Given the description of an element on the screen output the (x, y) to click on. 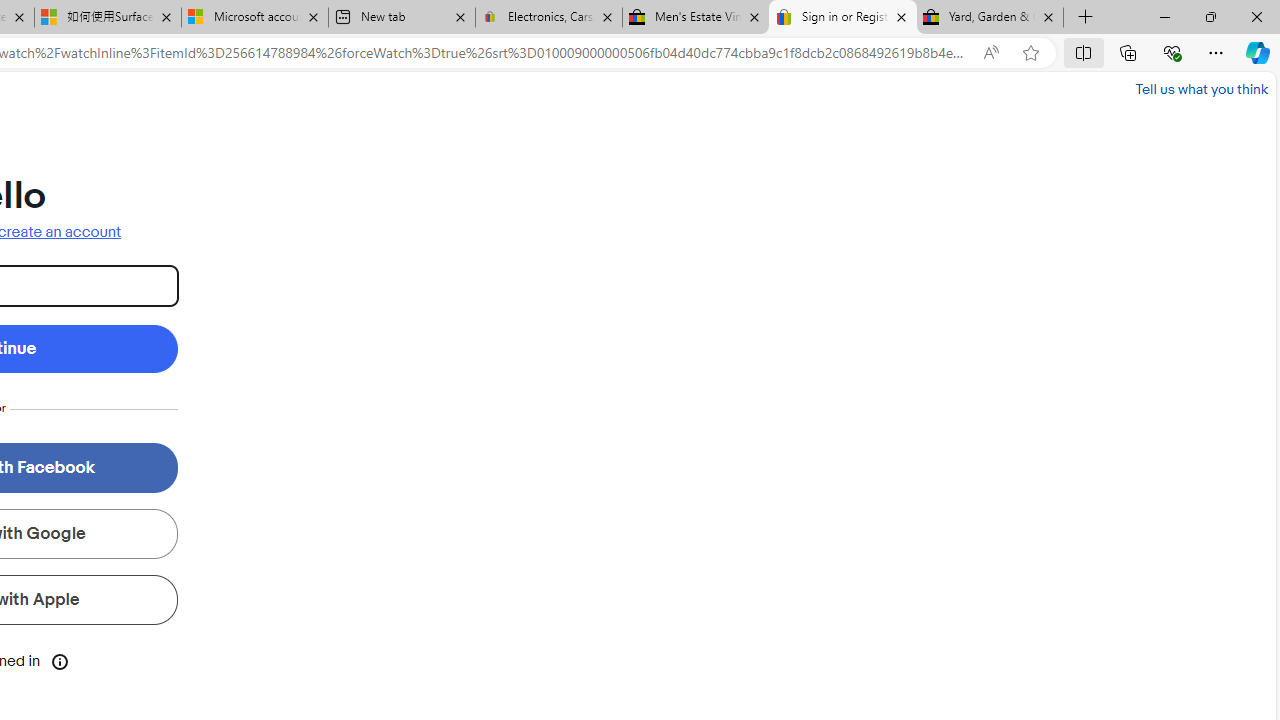
Sign in or Register | eBay (843, 17)
Class: icon-btn tooltip__host icon-btn--transparent (59, 660)
Microsoft account | Account Checkup (254, 17)
Tell us what you think - Link opens in a new window (1201, 88)
